Given the description of an element on the screen output the (x, y) to click on. 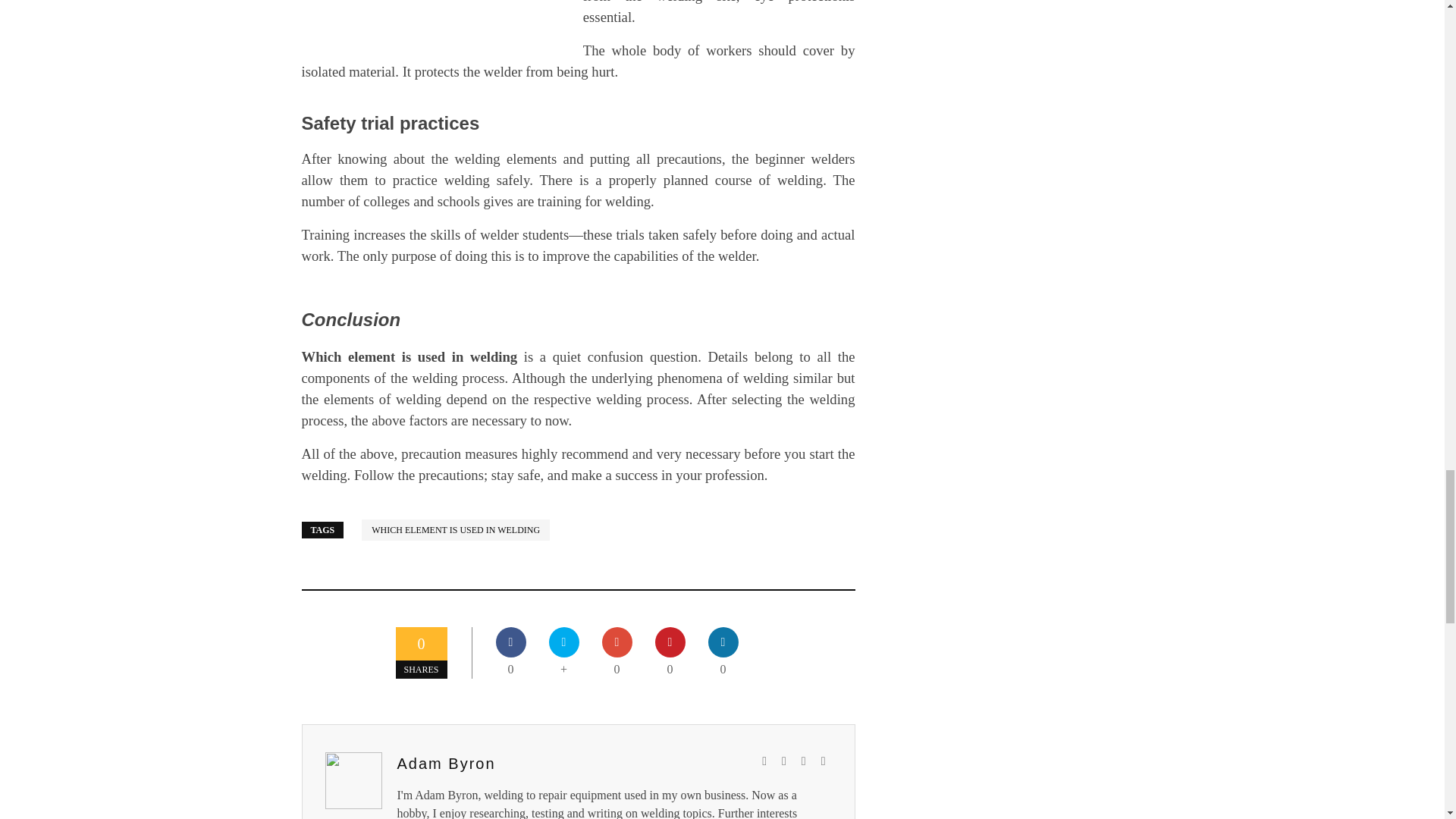
View all posts tagged Which Element Is Used In Welding (455, 528)
WHICH ELEMENT IS USED IN WELDING (455, 528)
Adam Byron (446, 763)
